Given the description of an element on the screen output the (x, y) to click on. 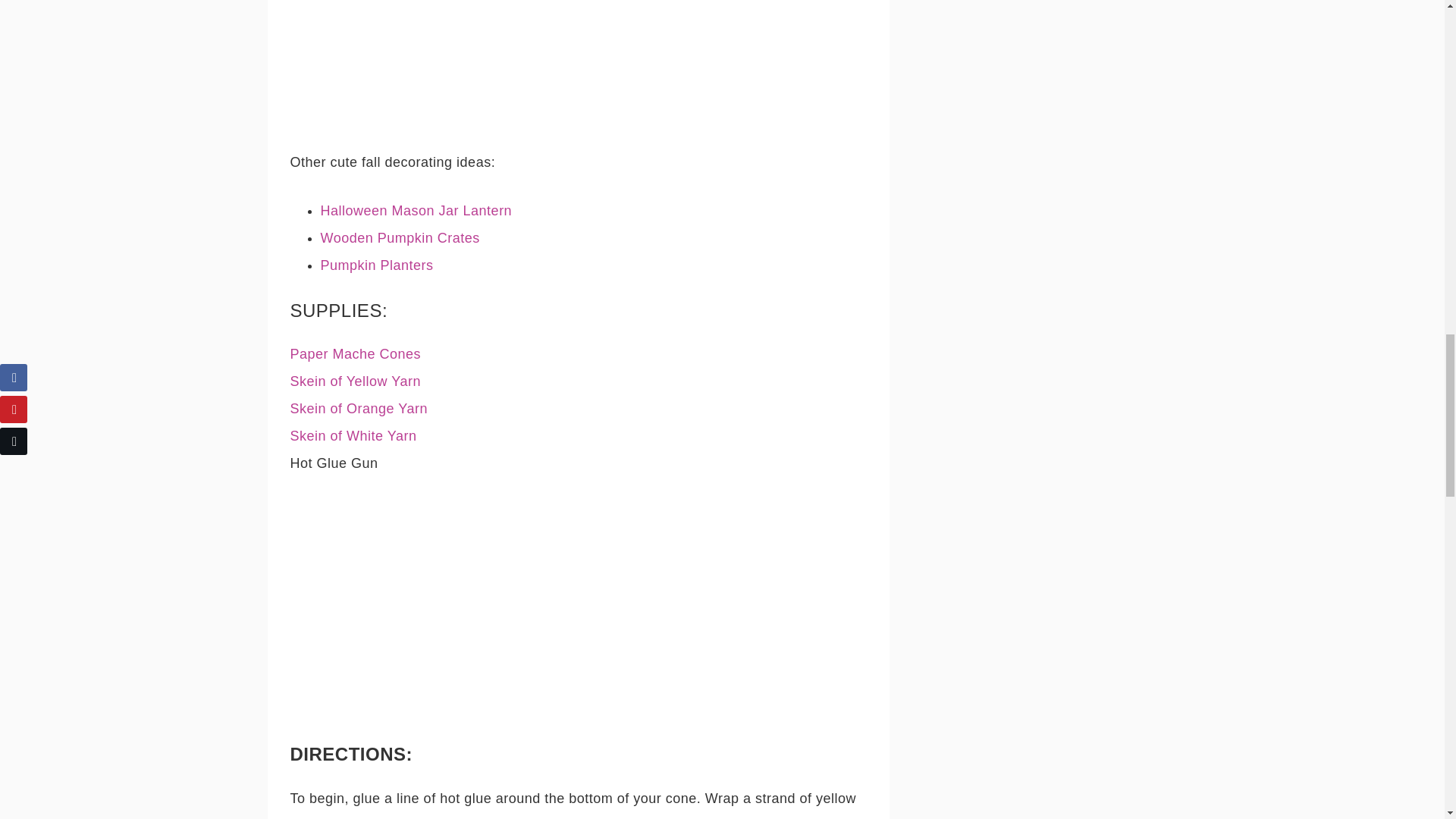
Skein of White Yarn (352, 435)
Wooden Pumpkin Crates (399, 237)
Halloween Mason Jar Lantern (416, 210)
Paper Mache Cones (354, 353)
Skein of Orange Yarn (357, 408)
Skein of Yellow Yarn (354, 381)
Pumpkin Planters (376, 264)
